Given the description of an element on the screen output the (x, y) to click on. 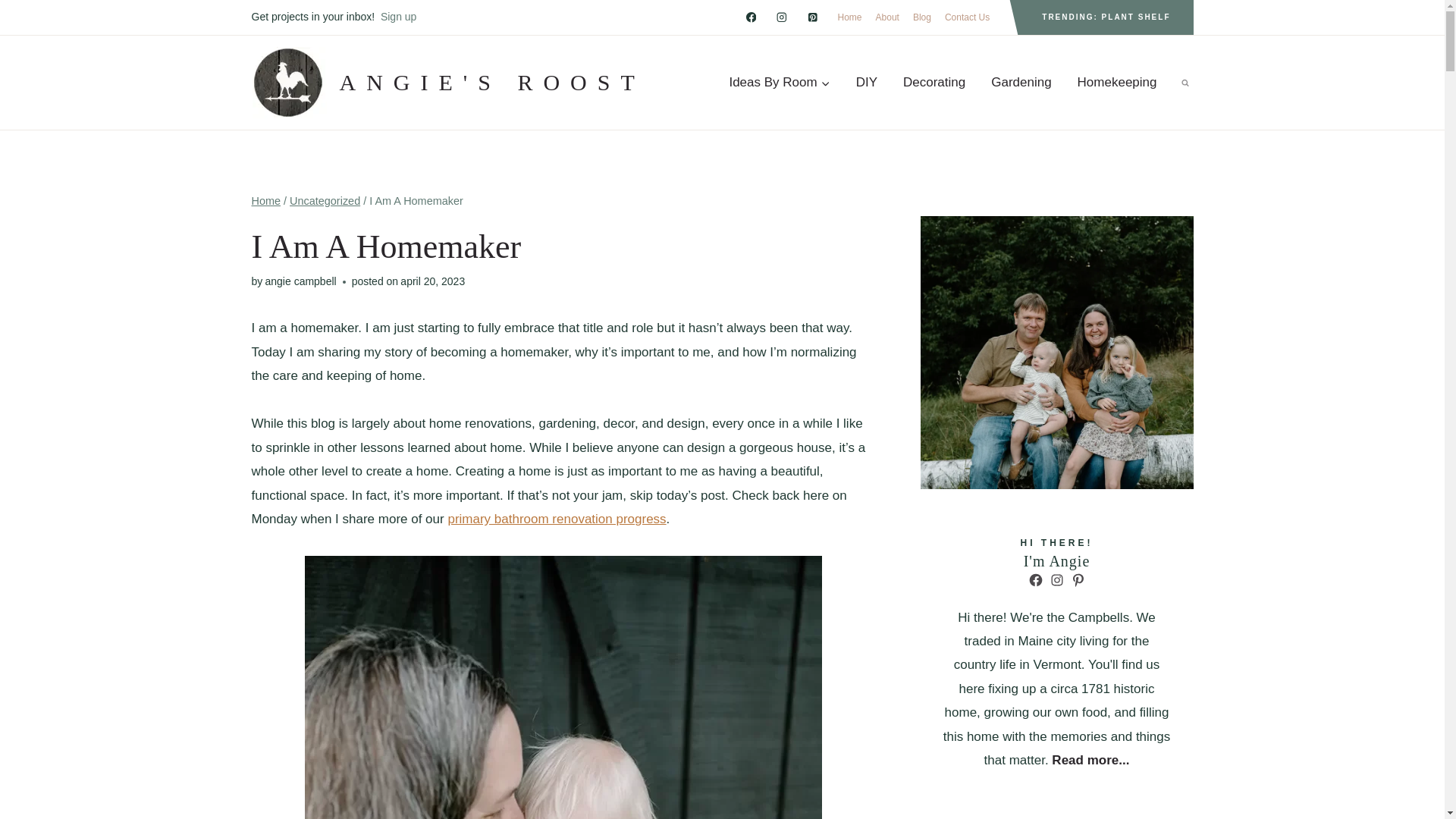
Home (850, 17)
About (887, 17)
ANGIE'S ROOST (448, 81)
TRENDING: PLANT SHELF (1105, 17)
Home (266, 200)
Ideas By Room (779, 82)
Decorating (933, 82)
Sign up (398, 16)
Homekeeping (1117, 82)
primary bathroom renovation progress (555, 518)
Blog (921, 17)
Contact Us (966, 17)
Uncategorized (324, 200)
DIY (866, 82)
Gardening (1021, 82)
